Given the description of an element on the screen output the (x, y) to click on. 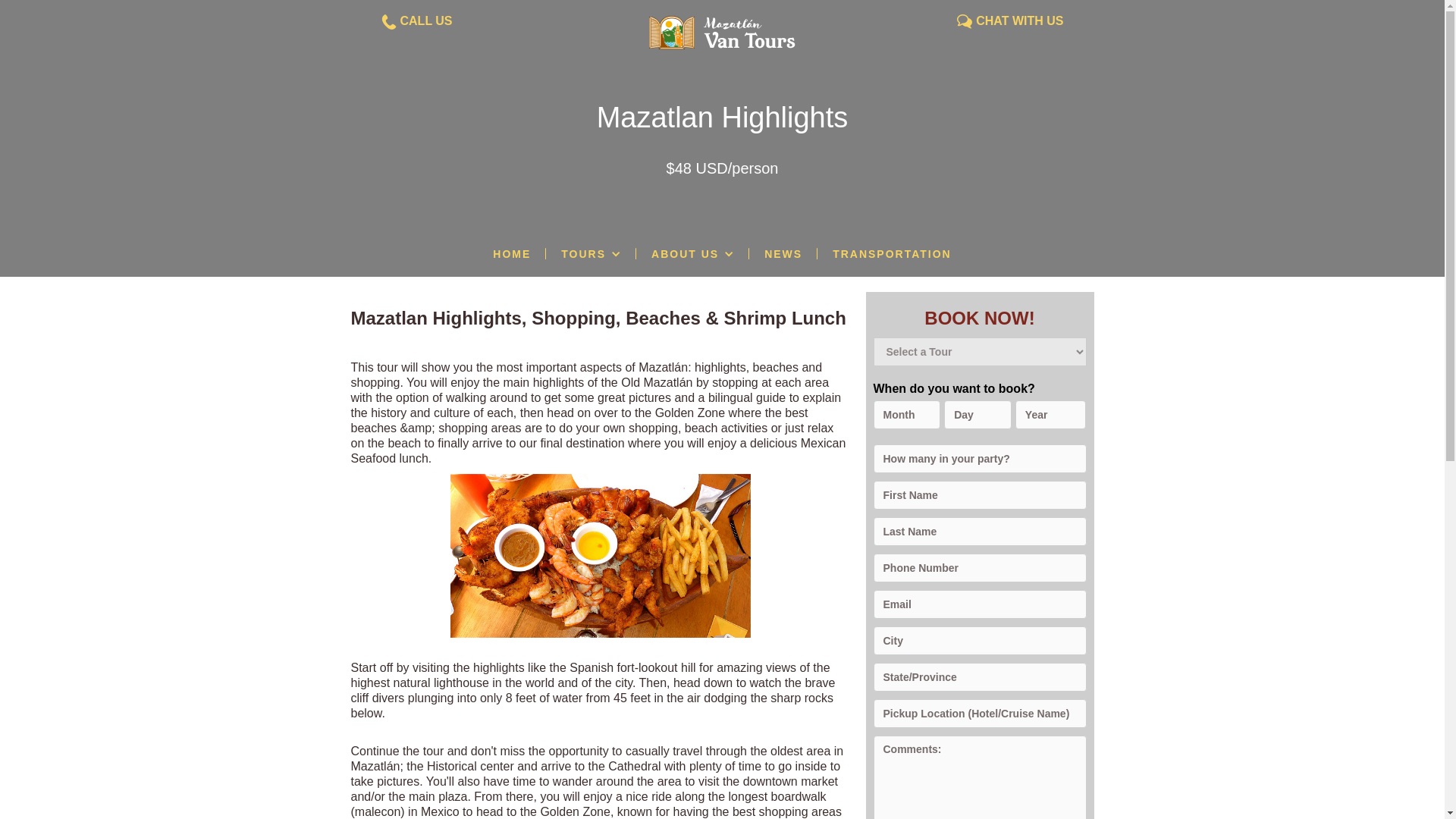
CHAT WITH US (1018, 20)
TRANSPORTATION (891, 253)
CALL US (426, 20)
NEWS (782, 253)
HOME (511, 253)
